Given the description of an element on the screen output the (x, y) to click on. 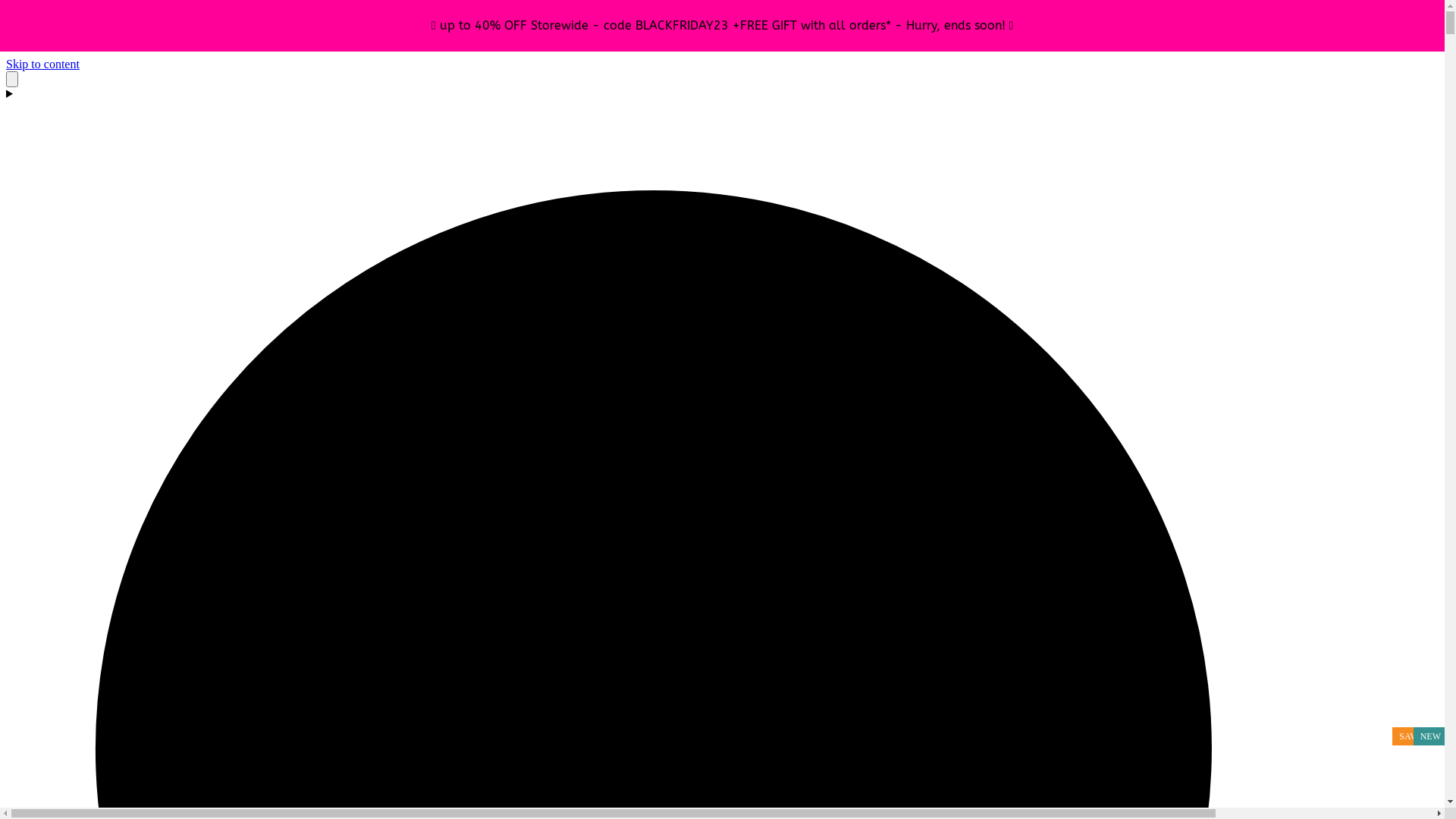
Skip to content Element type: text (42, 63)
